Given the description of an element on the screen output the (x, y) to click on. 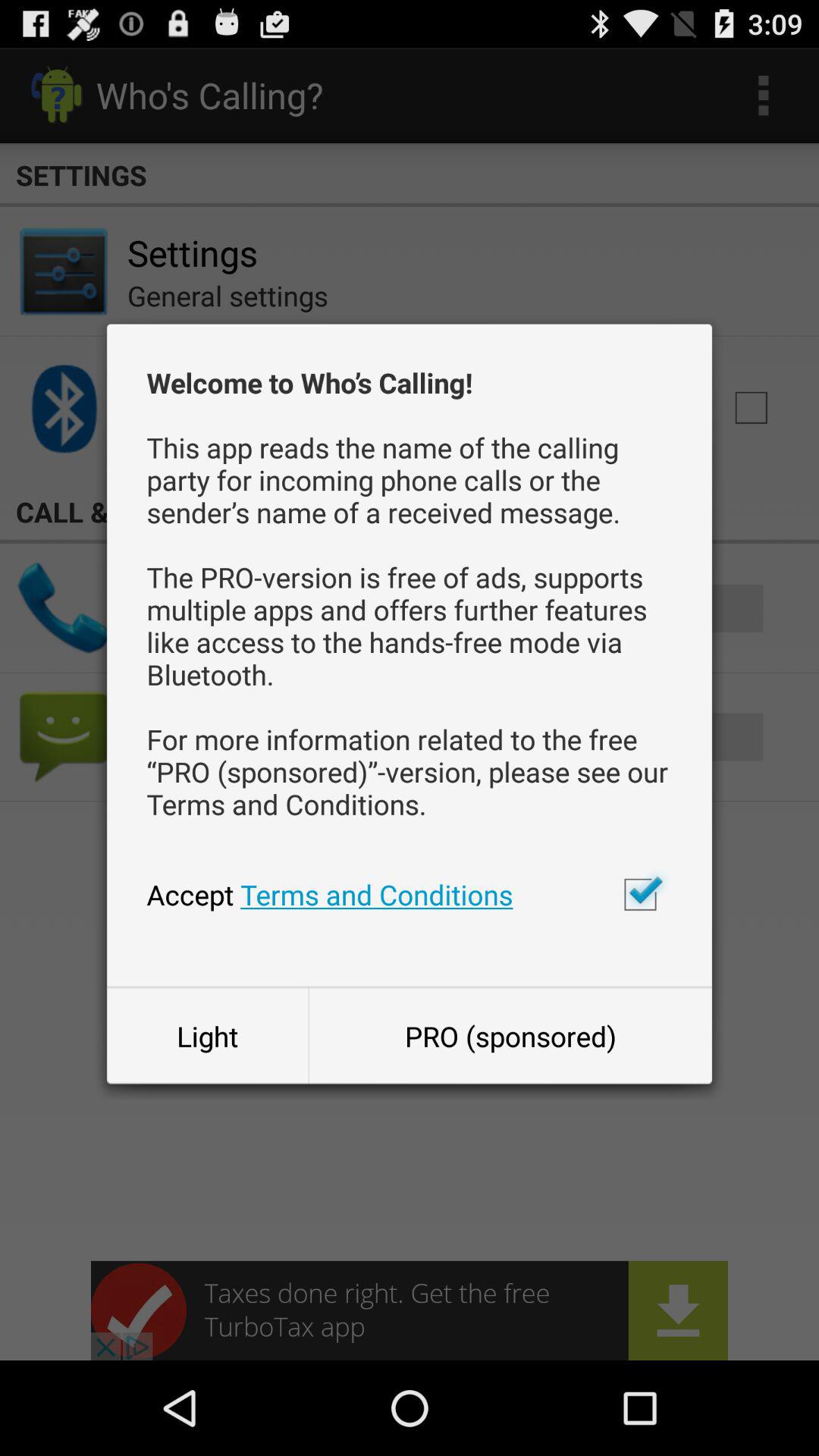
turn on light button (207, 1036)
